Given the description of an element on the screen output the (x, y) to click on. 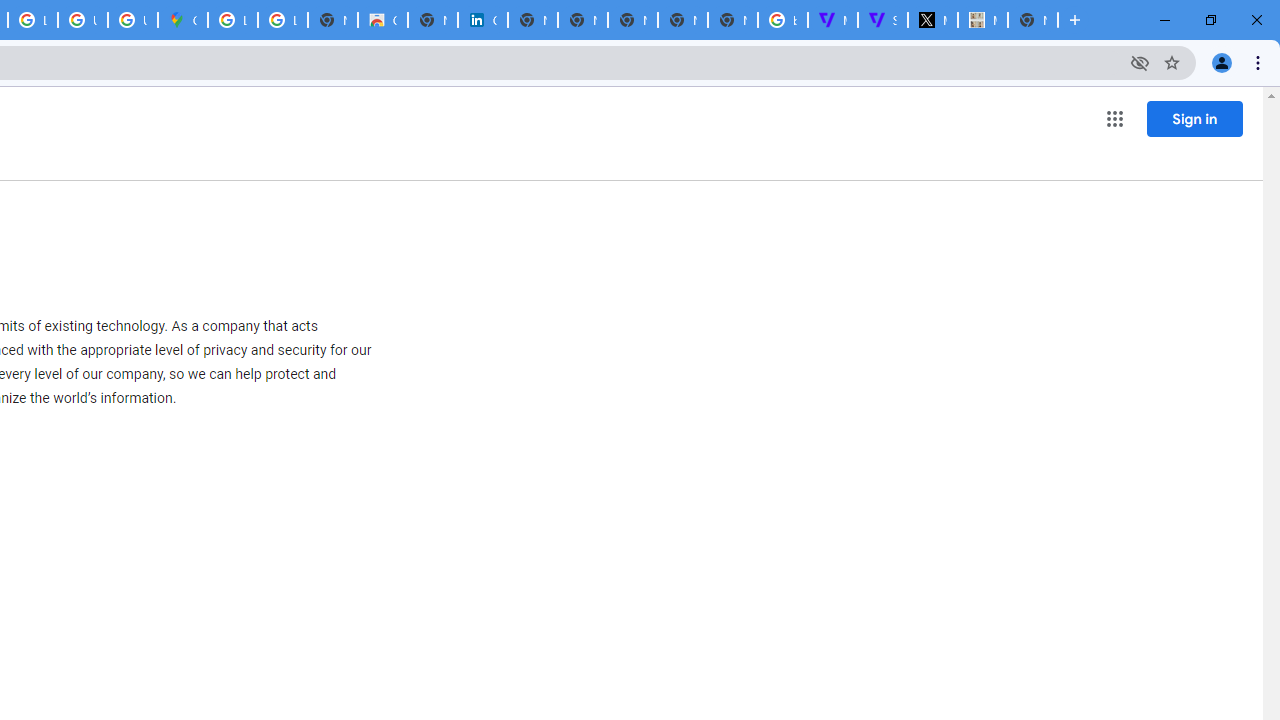
Cookie Policy | LinkedIn (483, 20)
New Tab (1032, 20)
MILEY CYRUS. (982, 20)
Miley Cyrus (@MileyCyrus) / X (932, 20)
Google Maps (182, 20)
Chrome Web Store (383, 20)
